Given the description of an element on the screen output the (x, y) to click on. 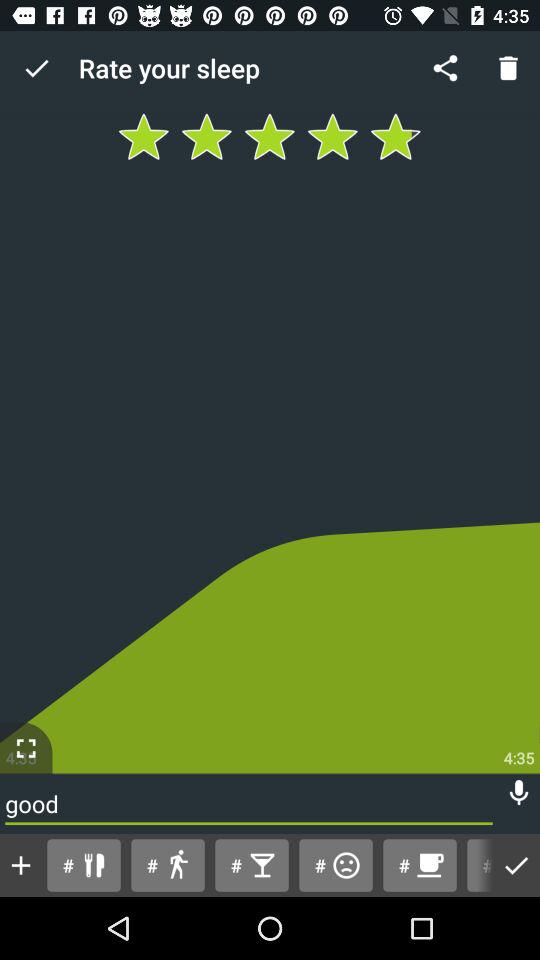
open # button (476, 864)
